Given the description of an element on the screen output the (x, y) to click on. 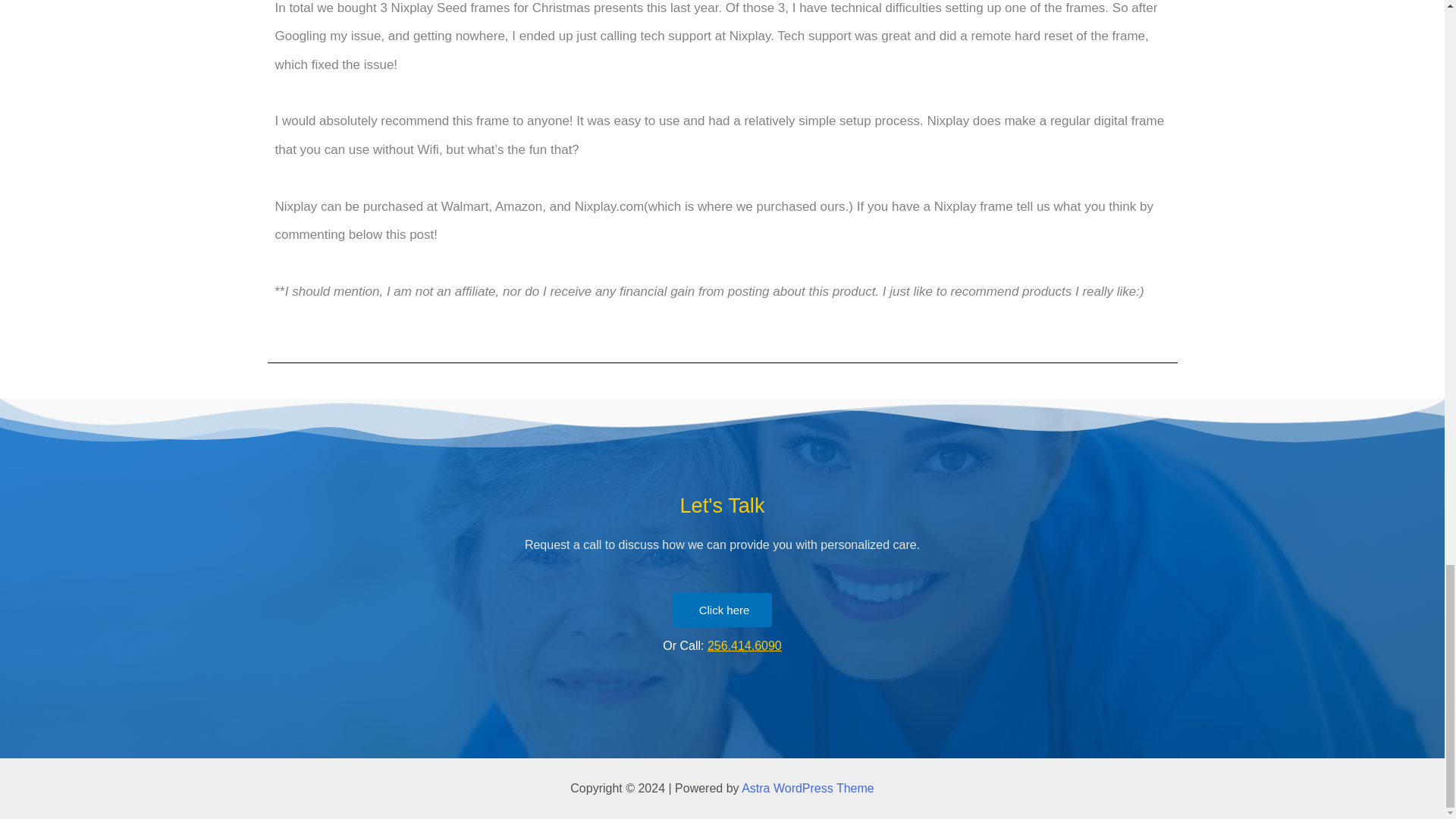
Astra WordPress Theme (808, 788)
256.414.6090 (744, 645)
Click here (722, 609)
